Given the description of an element on the screen output the (x, y) to click on. 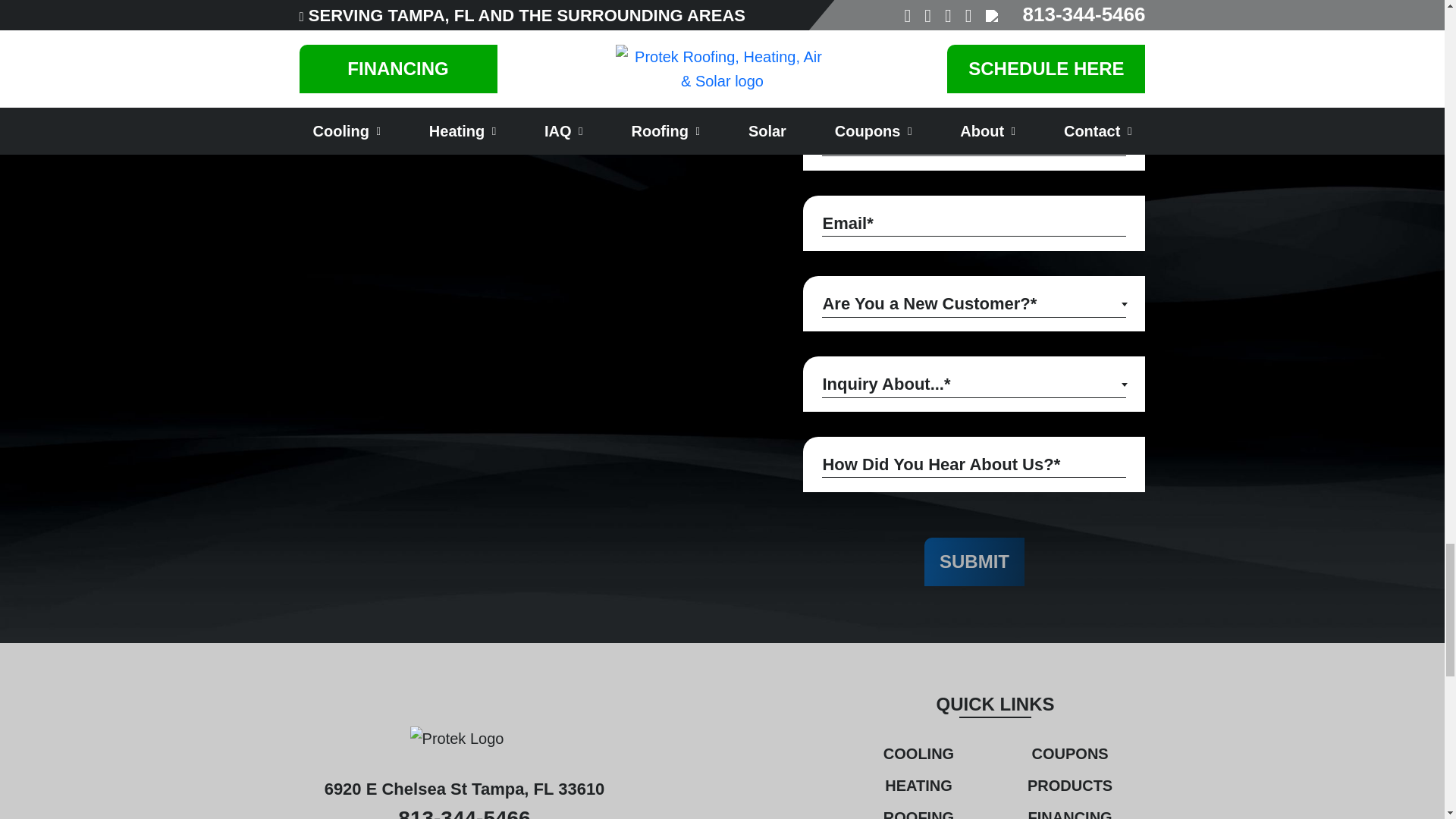
Submit (974, 561)
